Given the description of an element on the screen output the (x, y) to click on. 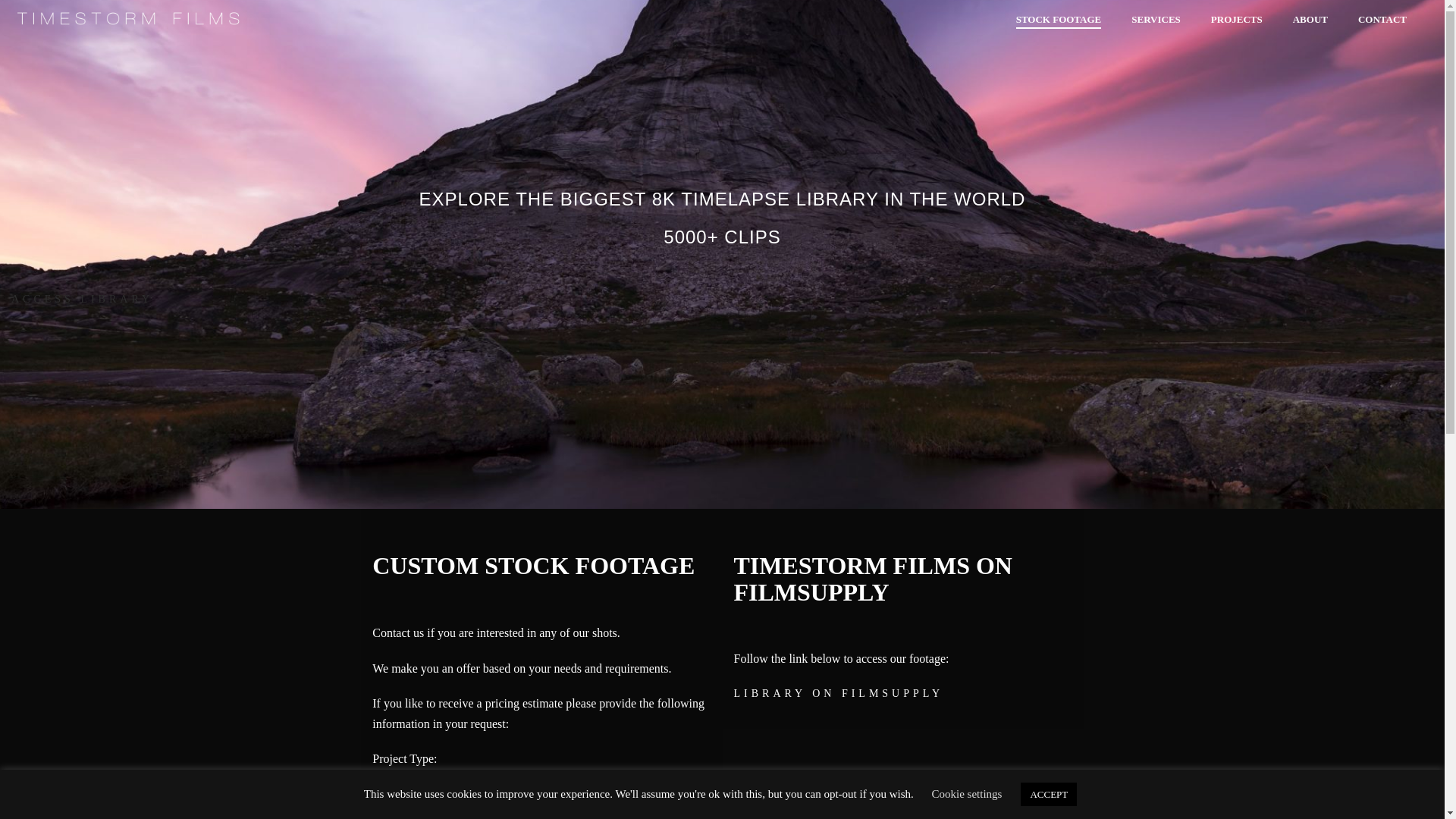
ABOUT (1310, 19)
PROJECTS (1236, 19)
ACCESS LIBRARY (80, 298)
CONTACT (1382, 19)
STOCK FOOTAGE (1058, 19)
Cookie settings (967, 793)
ACCEPT (1048, 793)
CONTACT (1382, 19)
SERVICES (1155, 19)
Professional Timelapse Photography (128, 19)
ABOUT (1310, 19)
PROJECTS (1236, 19)
STOCK FOOTAGE (1058, 19)
LIBRARY ON FILMSUPPLY (836, 692)
ACCESS LIBRARY (80, 298)
